Given the description of an element on the screen output the (x, y) to click on. 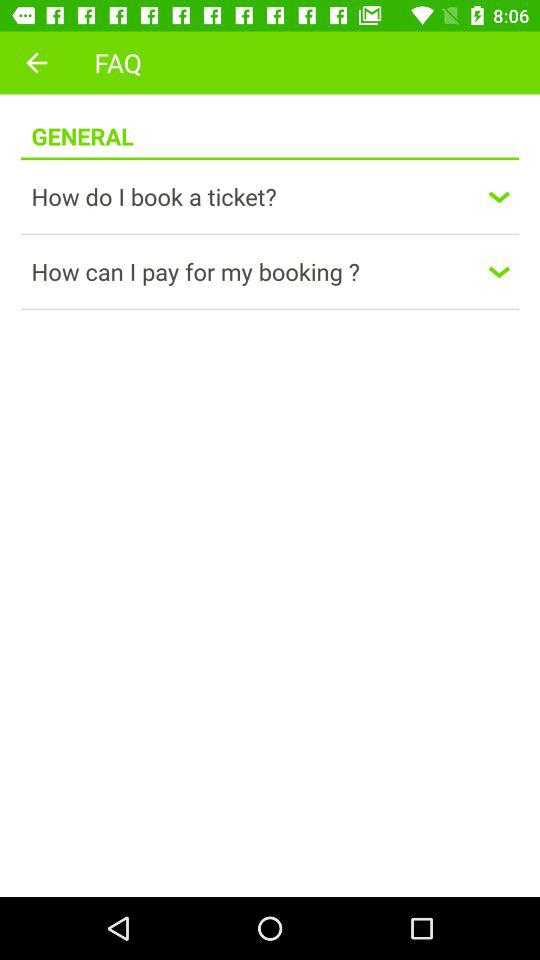
choose the item above the general item (36, 62)
